Given the description of an element on the screen output the (x, y) to click on. 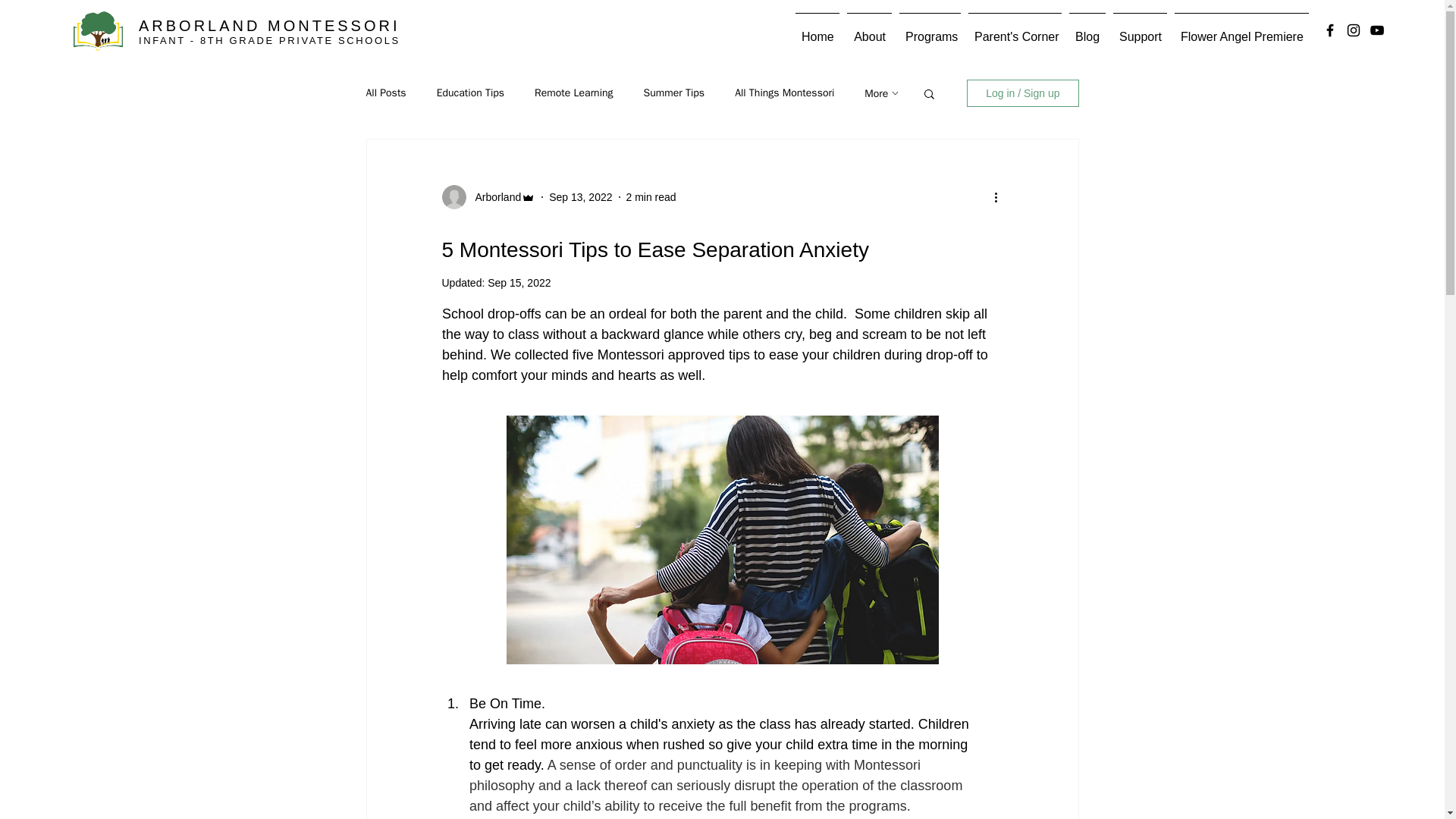
Summer Tips (673, 92)
Blog (1087, 29)
Education Tips (469, 92)
Flower Angel Premiere (1241, 29)
Arborland (493, 197)
Sep 13, 2022 (579, 196)
Sep 15, 2022 (518, 282)
All Posts (385, 92)
All Things Montessori (784, 92)
Support (1139, 29)
